Given the description of an element on the screen output the (x, y) to click on. 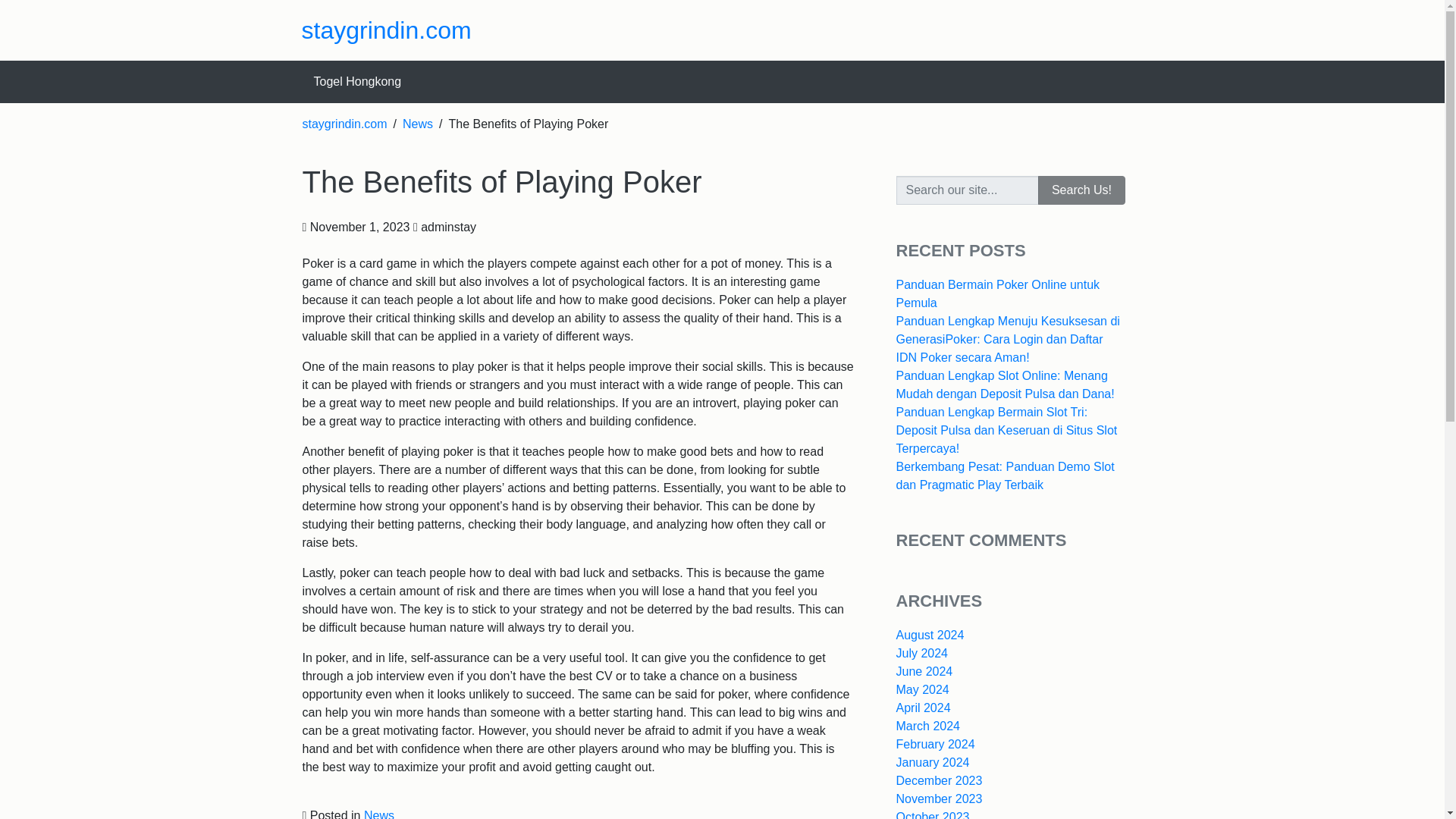
 Search Us!  (1081, 190)
Panduan Bermain Poker Online untuk Pemula (998, 293)
Togel Hongkong (357, 81)
August 2024 (929, 634)
May 2024 (922, 689)
January 2024 (932, 762)
News (379, 814)
February 2024 (935, 744)
